Given the description of an element on the screen output the (x, y) to click on. 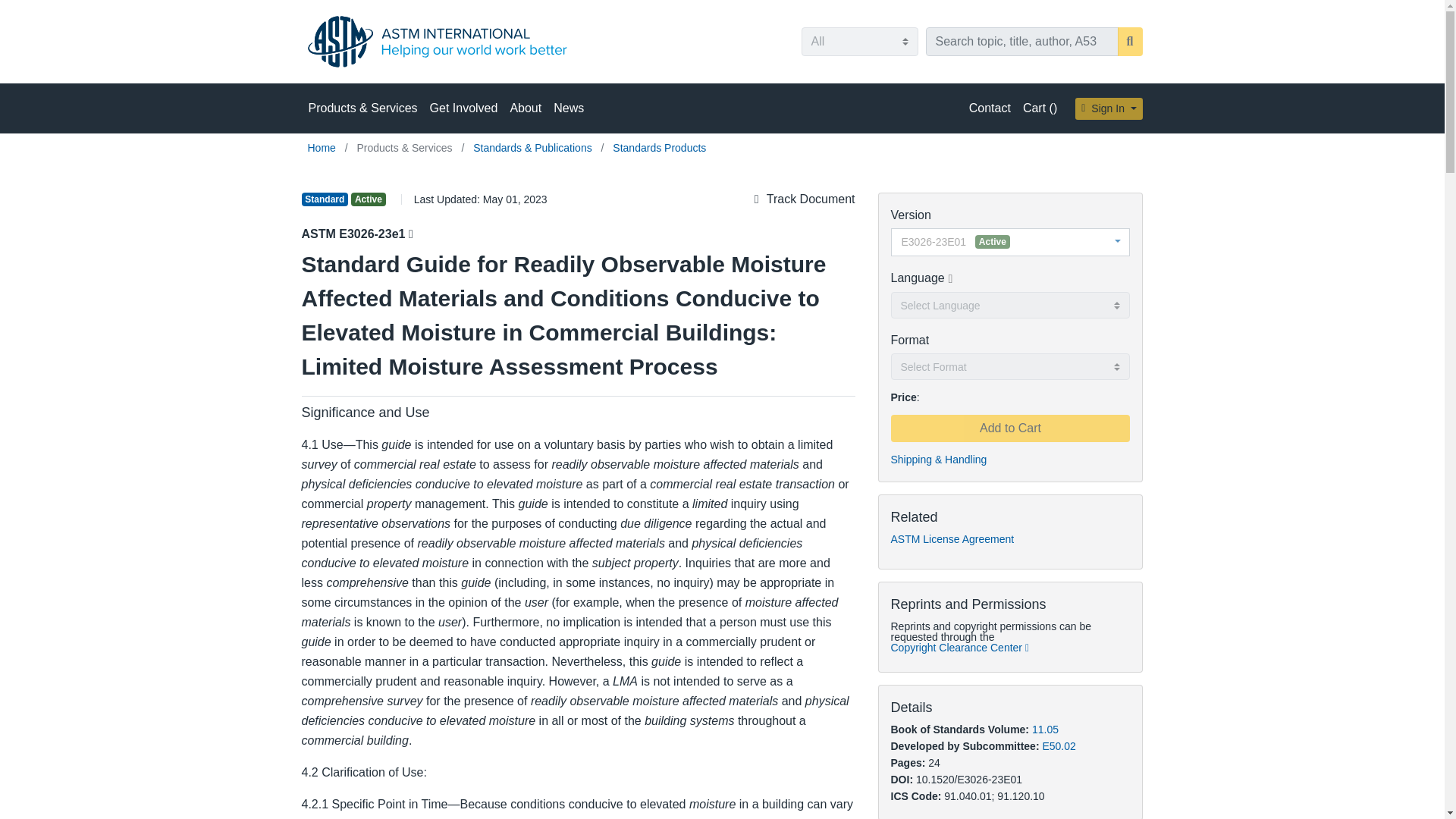
Go to Home Page (323, 147)
All (858, 41)
Add to Cart (1009, 428)
